Given the description of an element on the screen output the (x, y) to click on. 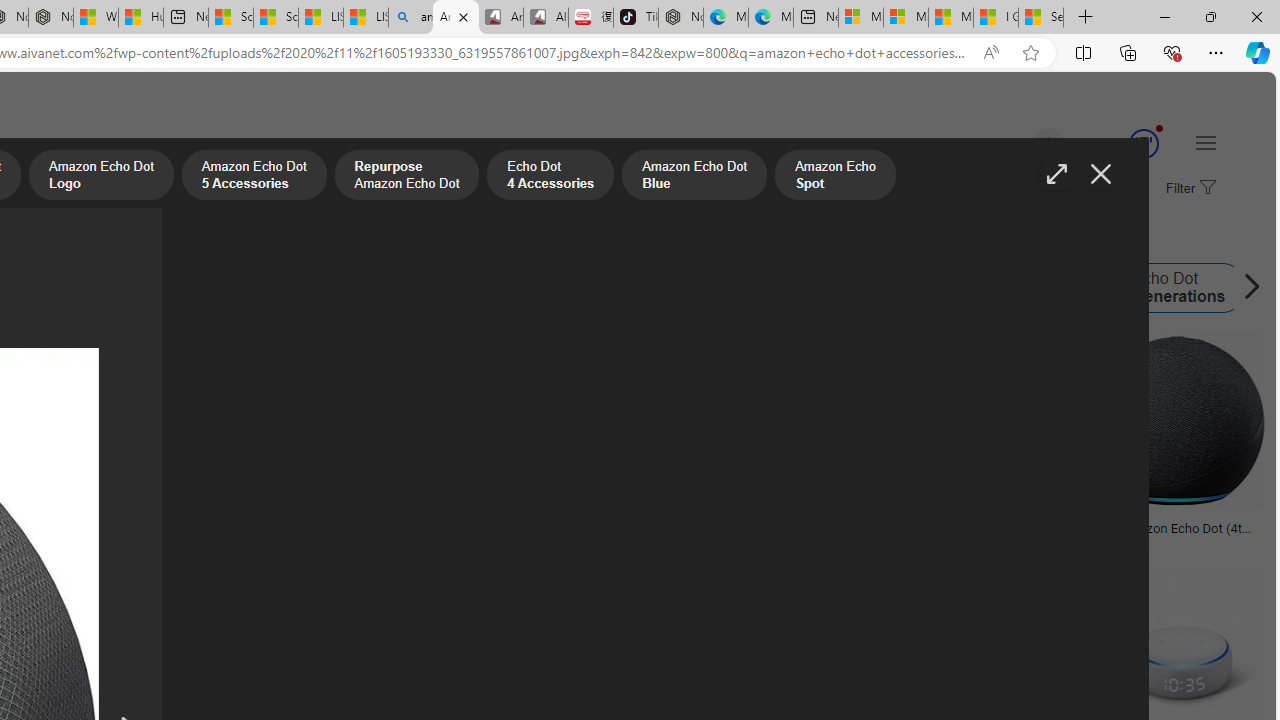
Amazon Echo Dot 5 Accessories (253, 177)
Echo Dot Generations (1103, 287)
Eugene (1019, 143)
Class: outer-circle-animation (1143, 143)
tpsearchtool.com (930, 541)
Repurpose Amazon Echo Dot (406, 177)
